Given the description of an element on the screen output the (x, y) to click on. 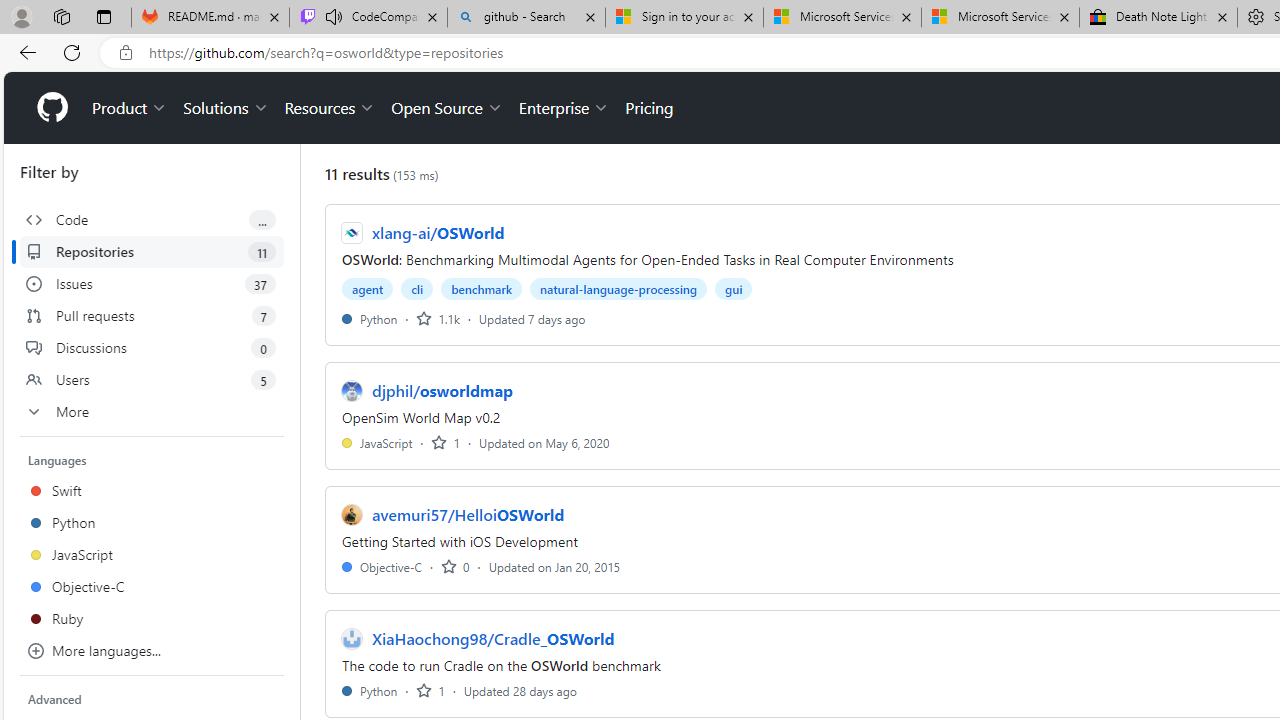
Product (130, 107)
gui (733, 288)
Enterprise (563, 107)
Open Source (446, 107)
Updated on May 6, 2020 (543, 442)
1 (430, 690)
XiaHaochong98/Cradle_OSWorld (493, 638)
